Given the description of an element on the screen output the (x, y) to click on. 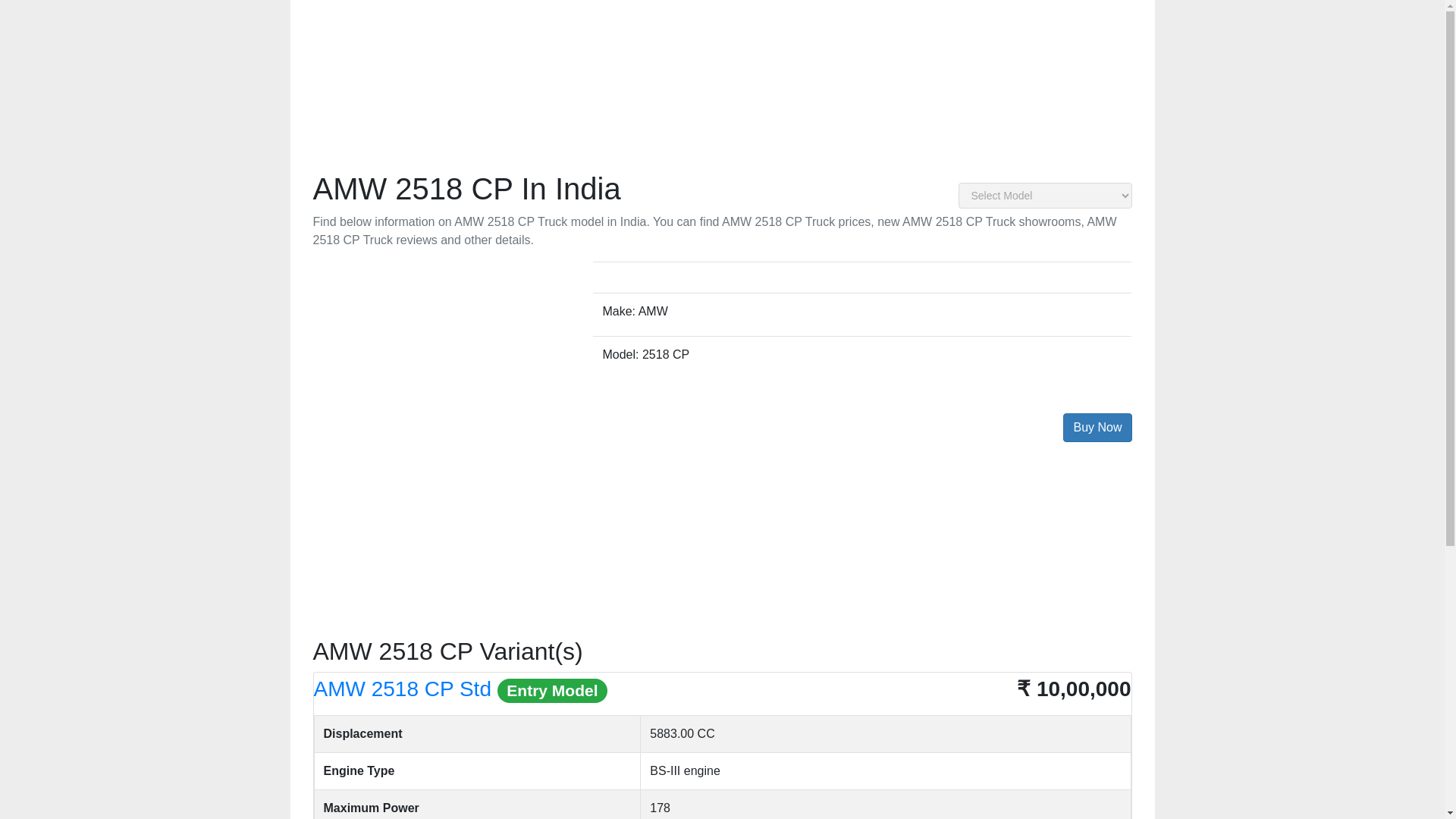
AMW 2518 CP Std Entry Model (461, 689)
AMW 2518 CP Std Variant (461, 689)
3rd party ad content (721, 538)
Buy Now (1096, 427)
